Given the description of an element on the screen output the (x, y) to click on. 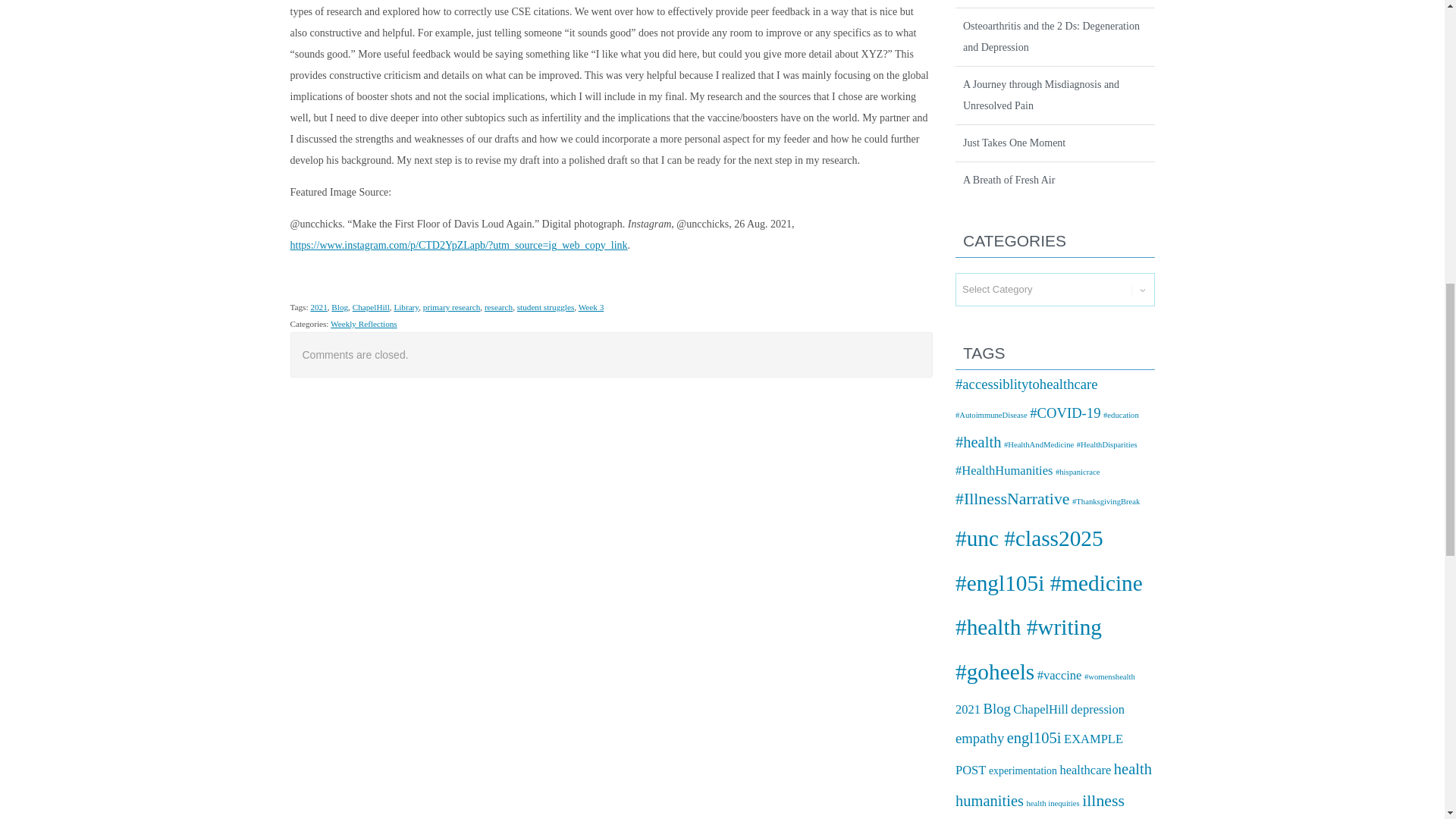
Library (406, 307)
2021 (318, 307)
ChapelHill (371, 307)
Weekly Reflections (363, 323)
student struggles (545, 307)
Blog (339, 307)
research (498, 307)
primary research (451, 307)
Week 3 (591, 307)
